Given the description of an element on the screen output the (x, y) to click on. 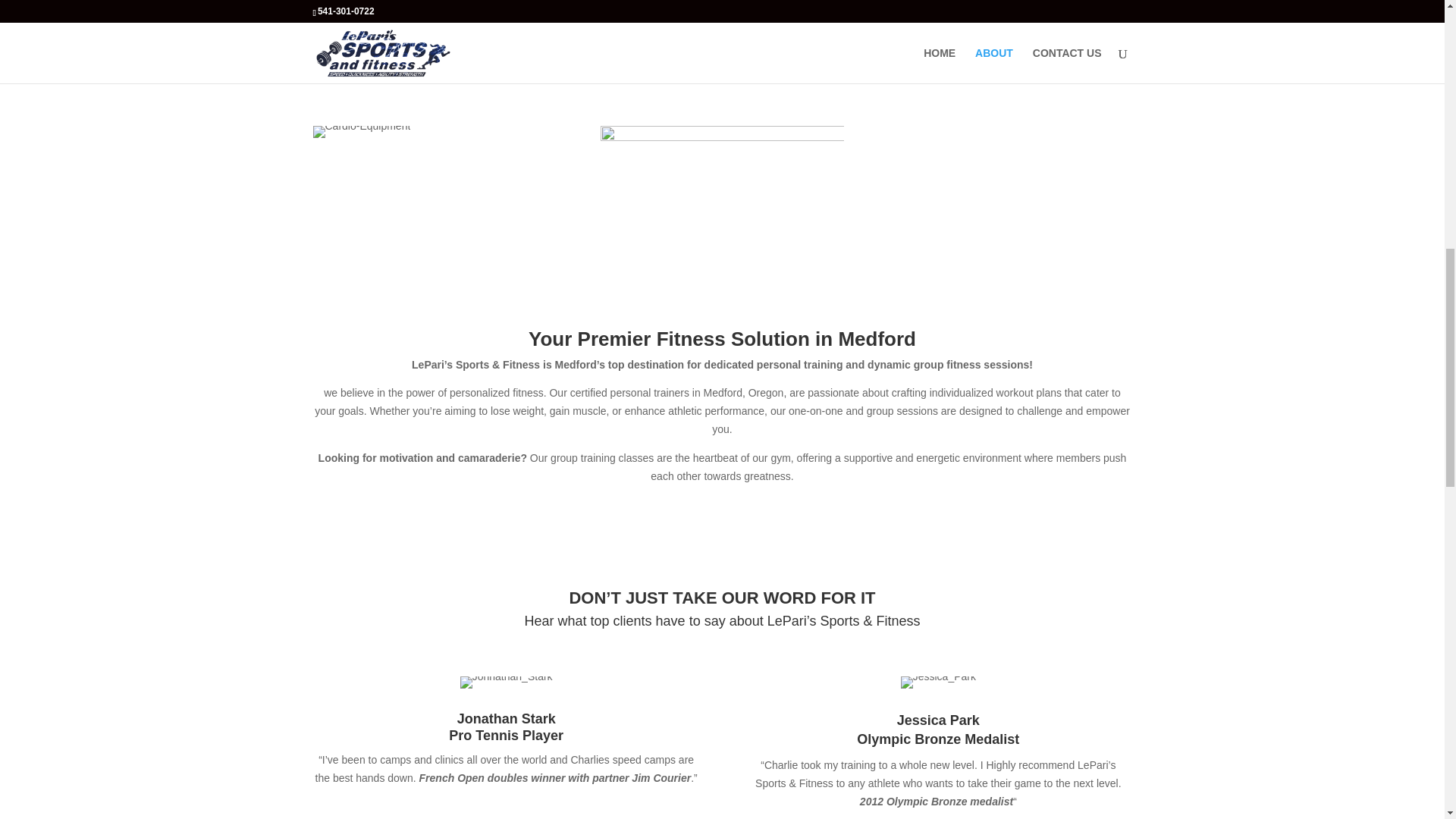
fitness-coach-38 (721, 207)
fitness-coach-36 (1011, 6)
Cardio-Equipment (361, 132)
LePari's-Sports (721, 51)
Jess-Park (938, 682)
Tough-gym (433, 51)
Stark-Johnathan (506, 682)
